Given the description of an element on the screen output the (x, y) to click on. 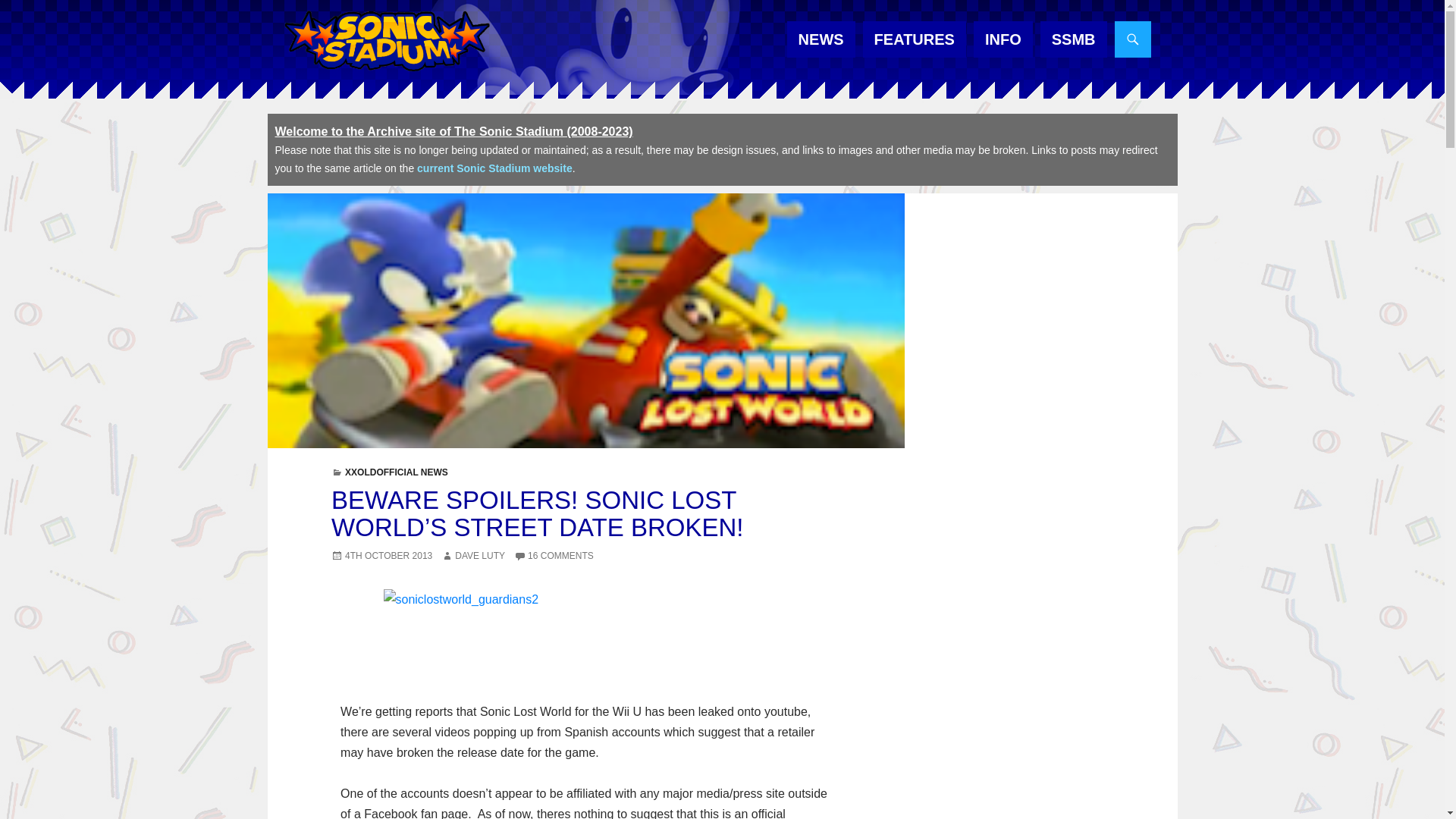
Go back to the HOME Page... (385, 40)
SSMB (1073, 39)
INFO (1003, 39)
NEWS (821, 39)
FEATURES (914, 39)
